Given the description of an element on the screen output the (x, y) to click on. 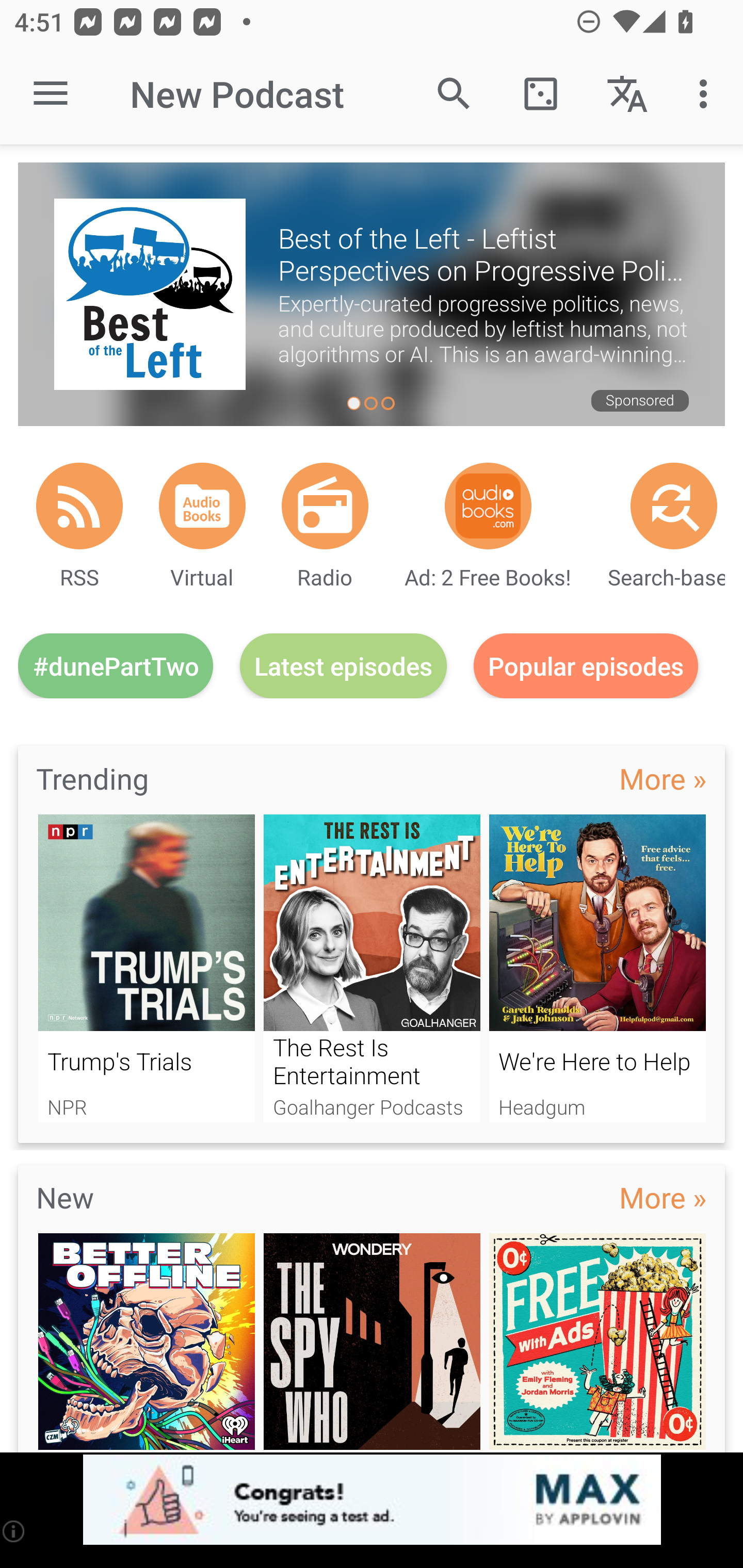
Open navigation sidebar (50, 93)
Search (453, 93)
Random pick (540, 93)
Podcast languages (626, 93)
More options (706, 93)
RSS (79, 505)
Virtual (202, 505)
Radio (324, 505)
Search-based (673, 505)
#dunePartTwo (115, 665)
Latest episodes (342, 665)
Popular episodes (586, 665)
More » (662, 778)
Trump's Trials NPR (145, 967)
The Rest Is Entertainment Goalhanger Podcasts (371, 967)
We're Here to Help Headgum (596, 967)
More » (662, 1196)
Better Offline (145, 1342)
The Spy Who (371, 1342)
Free With Ads (596, 1342)
app-monetization (371, 1500)
(i) (14, 1531)
